Given the description of an element on the screen output the (x, y) to click on. 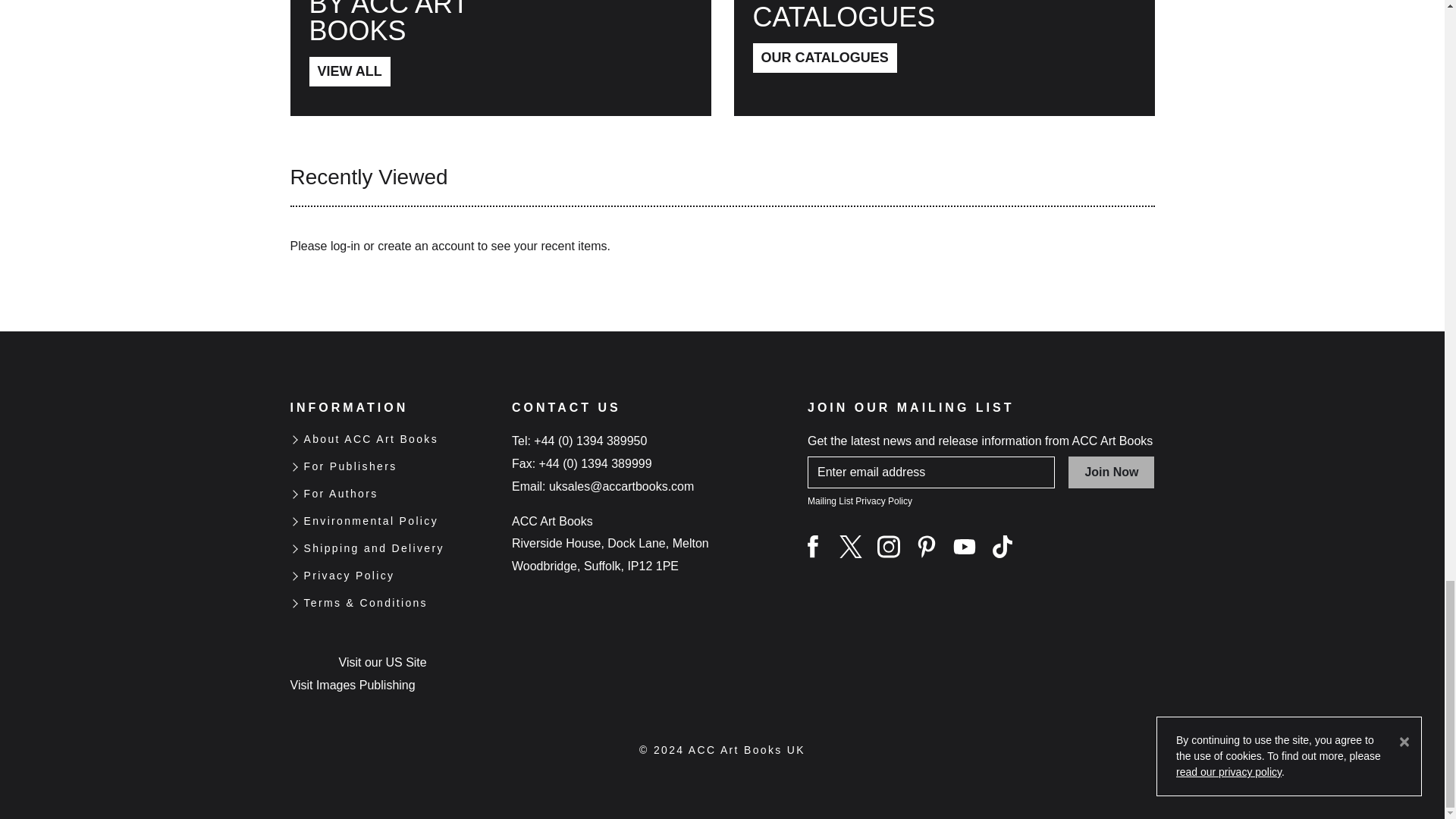
Join Now (1111, 472)
